Given the description of an element on the screen output the (x, y) to click on. 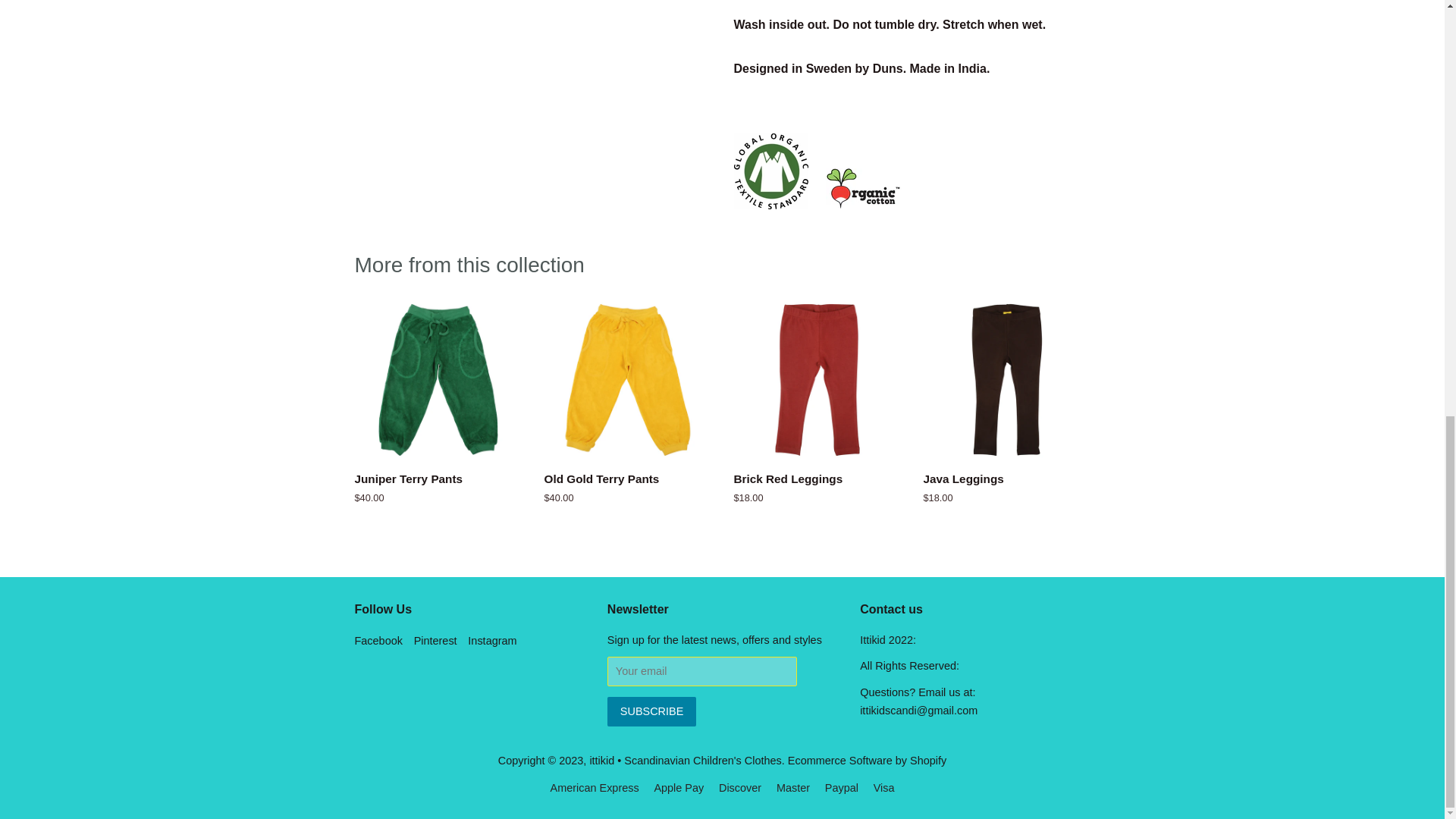
Subscribe (651, 711)
